Given the description of an element on the screen output the (x, y) to click on. 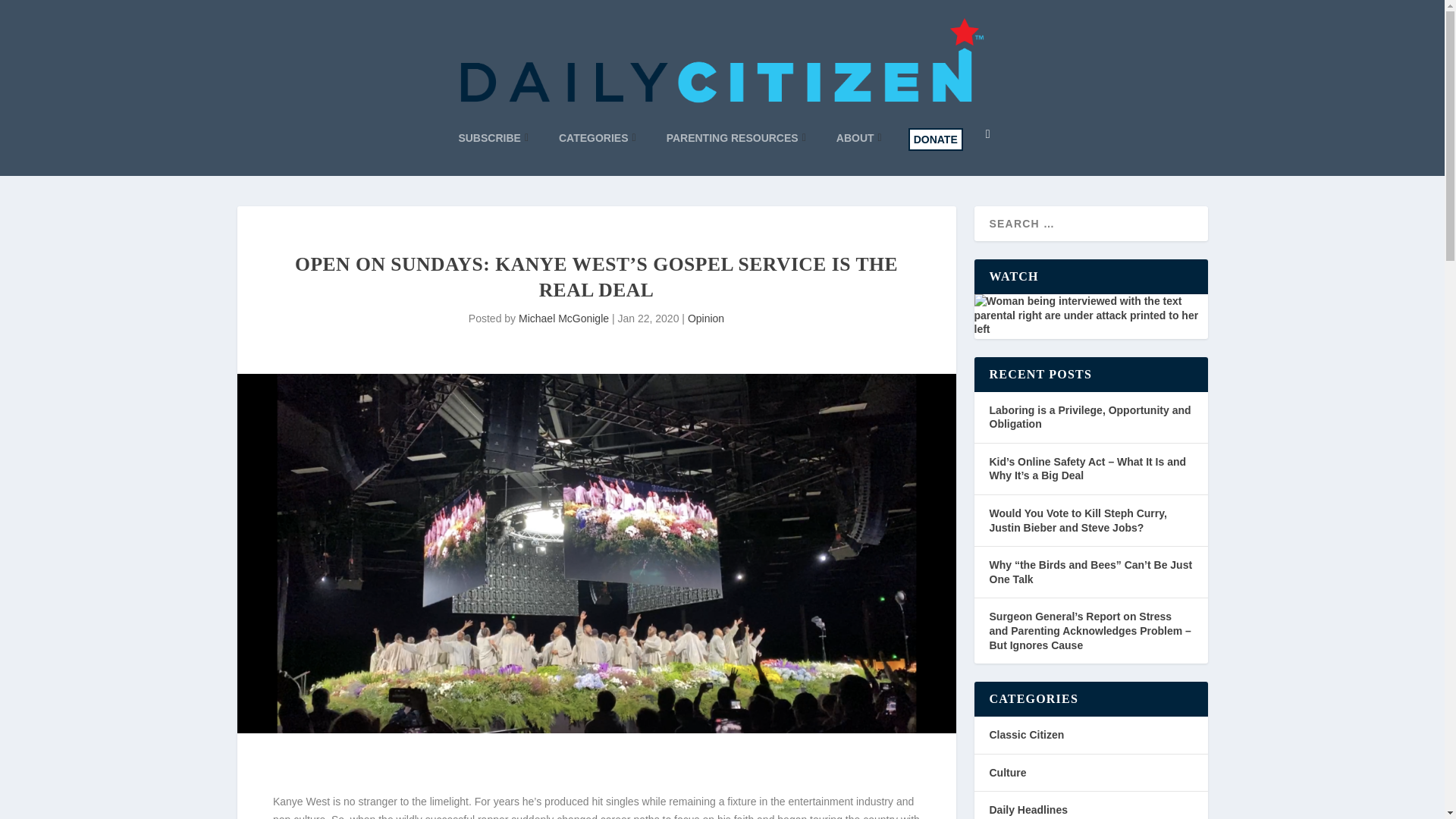
PARENTING RESOURCES (735, 137)
Opinion (705, 318)
DONATE (935, 138)
CATEGORIES (597, 137)
WATCH (1090, 314)
Michael McGonigle (563, 318)
SUBSCRIBE (493, 137)
Posts by Michael McGonigle (563, 318)
ABOUT (858, 137)
